Given the description of an element on the screen output the (x, y) to click on. 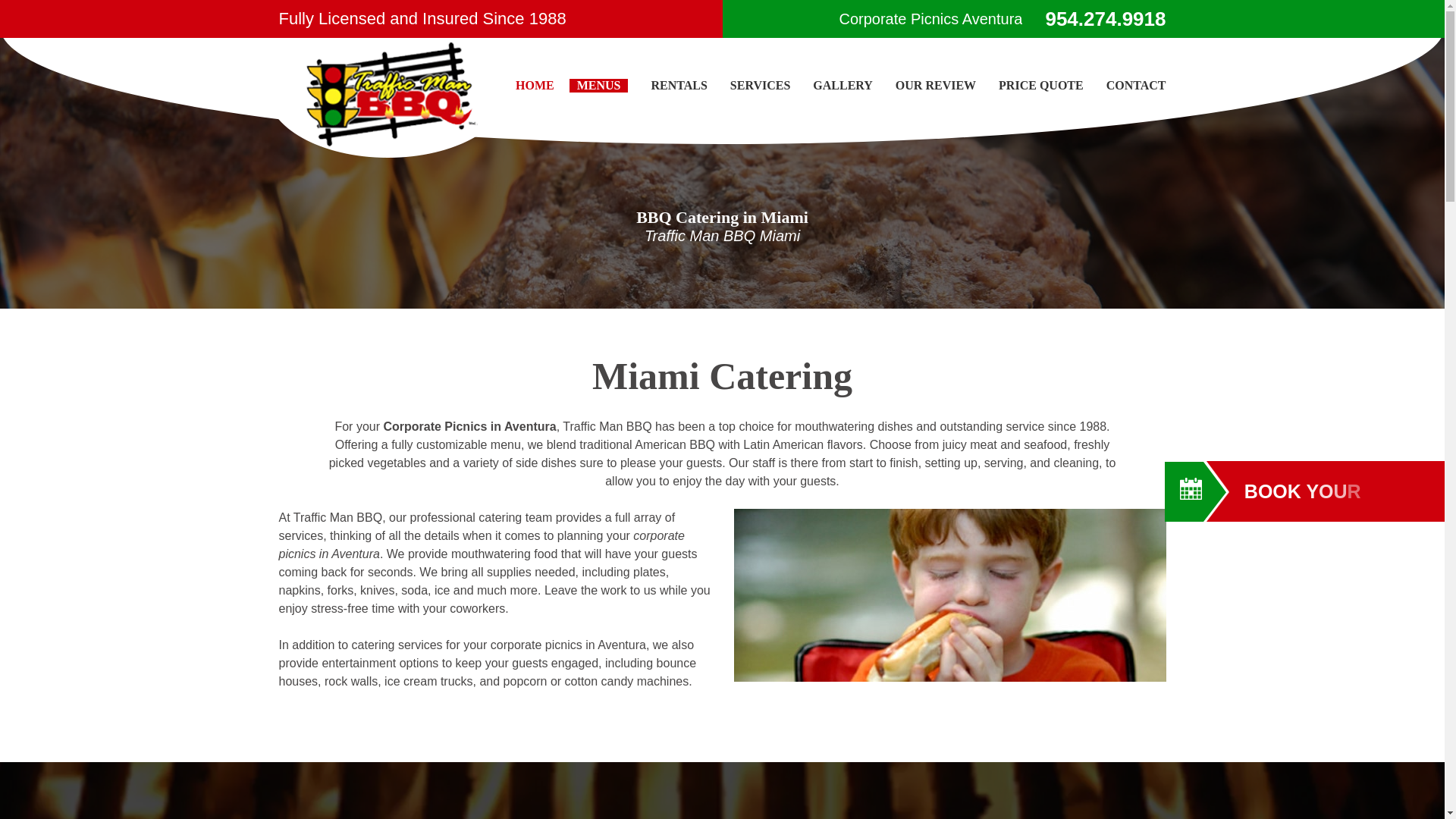
954.274.9918 (1105, 18)
MENUS (598, 85)
RENTALS (678, 85)
HOME (534, 85)
SERVICES (760, 85)
OUR REVIEW (935, 85)
GALLERY (842, 85)
CONTACT (1136, 85)
PRICE QUOTE (1040, 85)
